Given the description of an element on the screen output the (x, y) to click on. 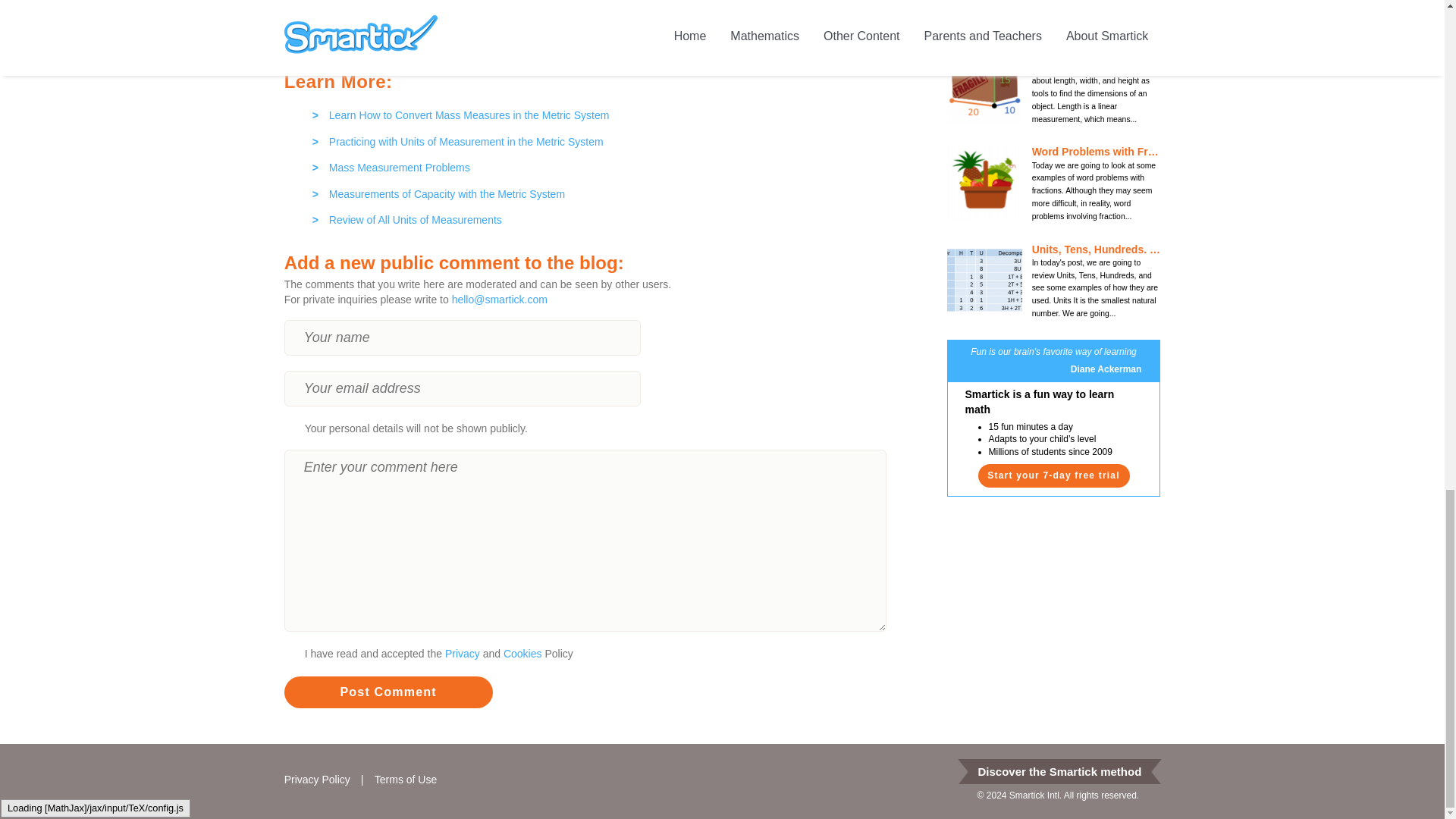
Practicing with Units of Measurement in the Metric System (601, 138)
Practicing with Units of Measurement in the Metric System (601, 138)
Measurements of Capacity with the Metric System (601, 190)
Measurements of Capacity with the Metric System (601, 190)
Learn How to Convert Mass Measures in the Metric System (601, 111)
Learn How to Convert Mass Measures in the Metric System (601, 111)
Review of All Units of Measurements (601, 216)
Post Comment (388, 692)
Mass Measurement Problems (601, 164)
Mass Measurement Problems (601, 164)
